Given the description of an element on the screen output the (x, y) to click on. 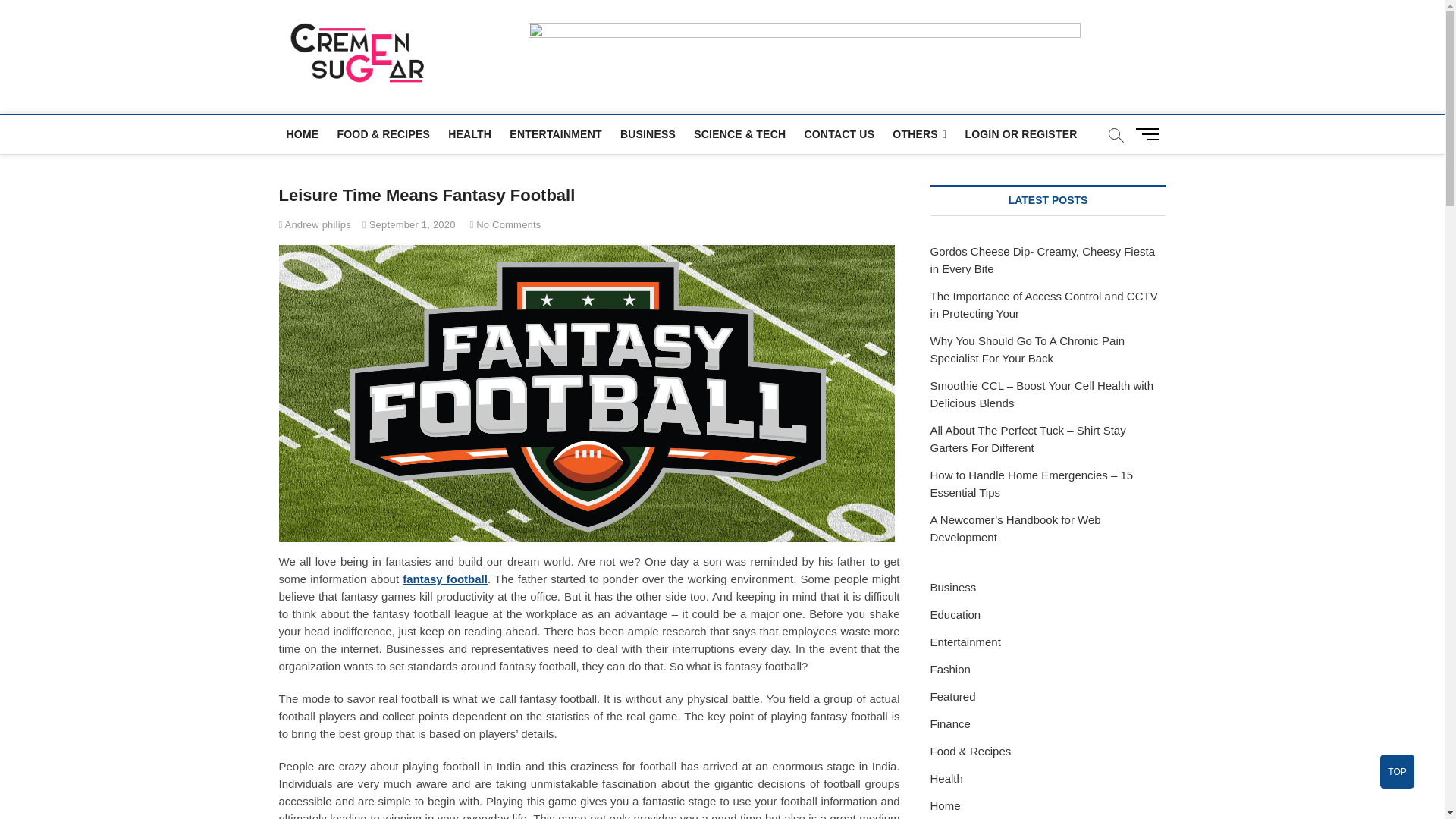
LOGIN OR REGISTER (1020, 134)
CremeNsugar (520, 50)
OTHERS (919, 134)
HOME (302, 134)
ENTERTAINMENT (555, 134)
CremeNsugar (520, 50)
HEALTH (470, 134)
BUSINESS (647, 134)
CONTACT US (839, 134)
Menu Button (1150, 133)
September 1, 2020 (408, 224)
Leisure Time Means Fantasy Football (314, 224)
